Given the description of an element on the screen output the (x, y) to click on. 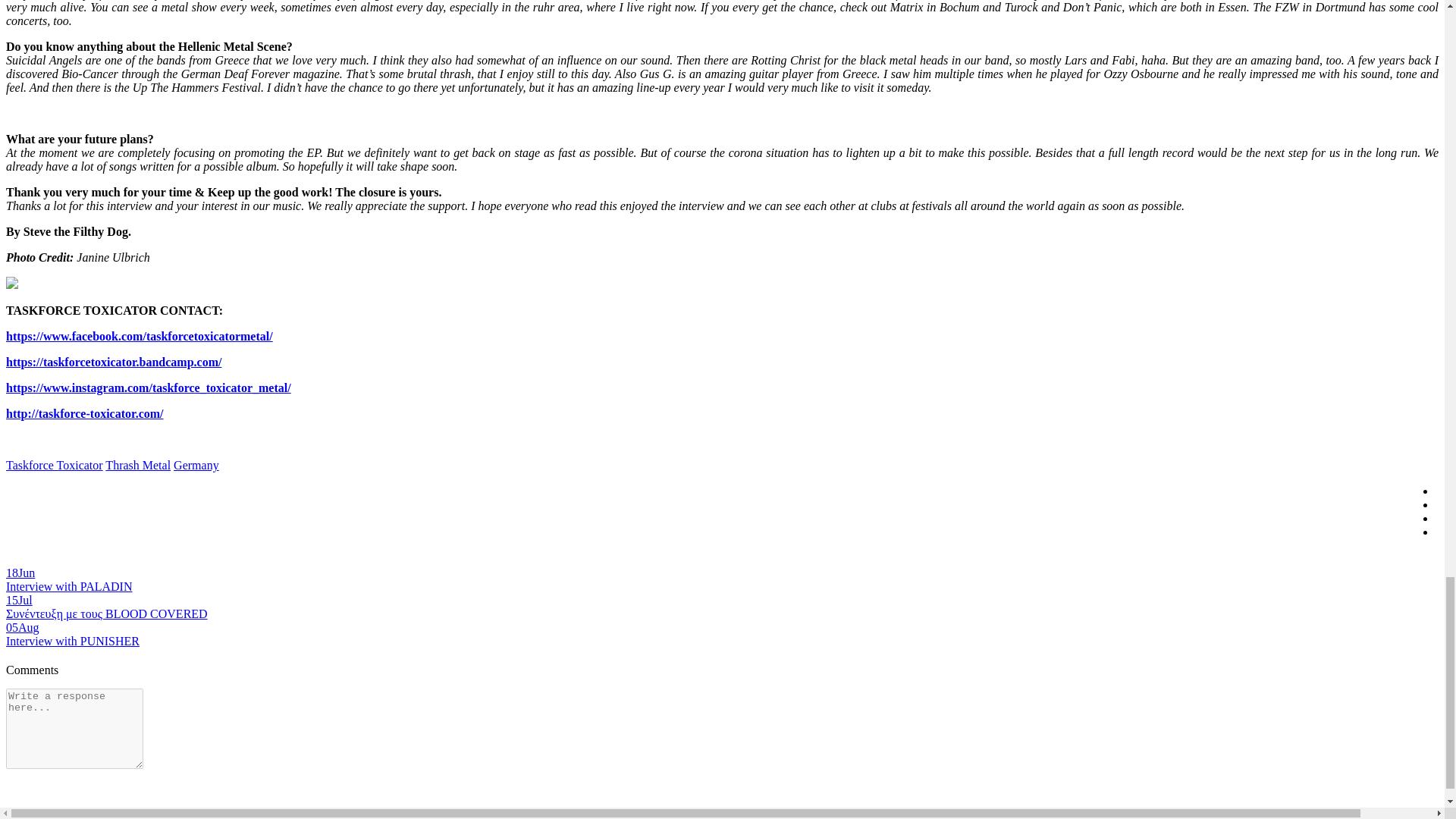
Germany (196, 464)
Interview with PUNISHER (72, 640)
Taskforce Toxicator (54, 464)
18Jun (19, 572)
Interview with PALADIN (68, 585)
05Aug (22, 626)
15Jul (18, 599)
Thrash Metal (137, 464)
